Given the description of an element on the screen output the (x, y) to click on. 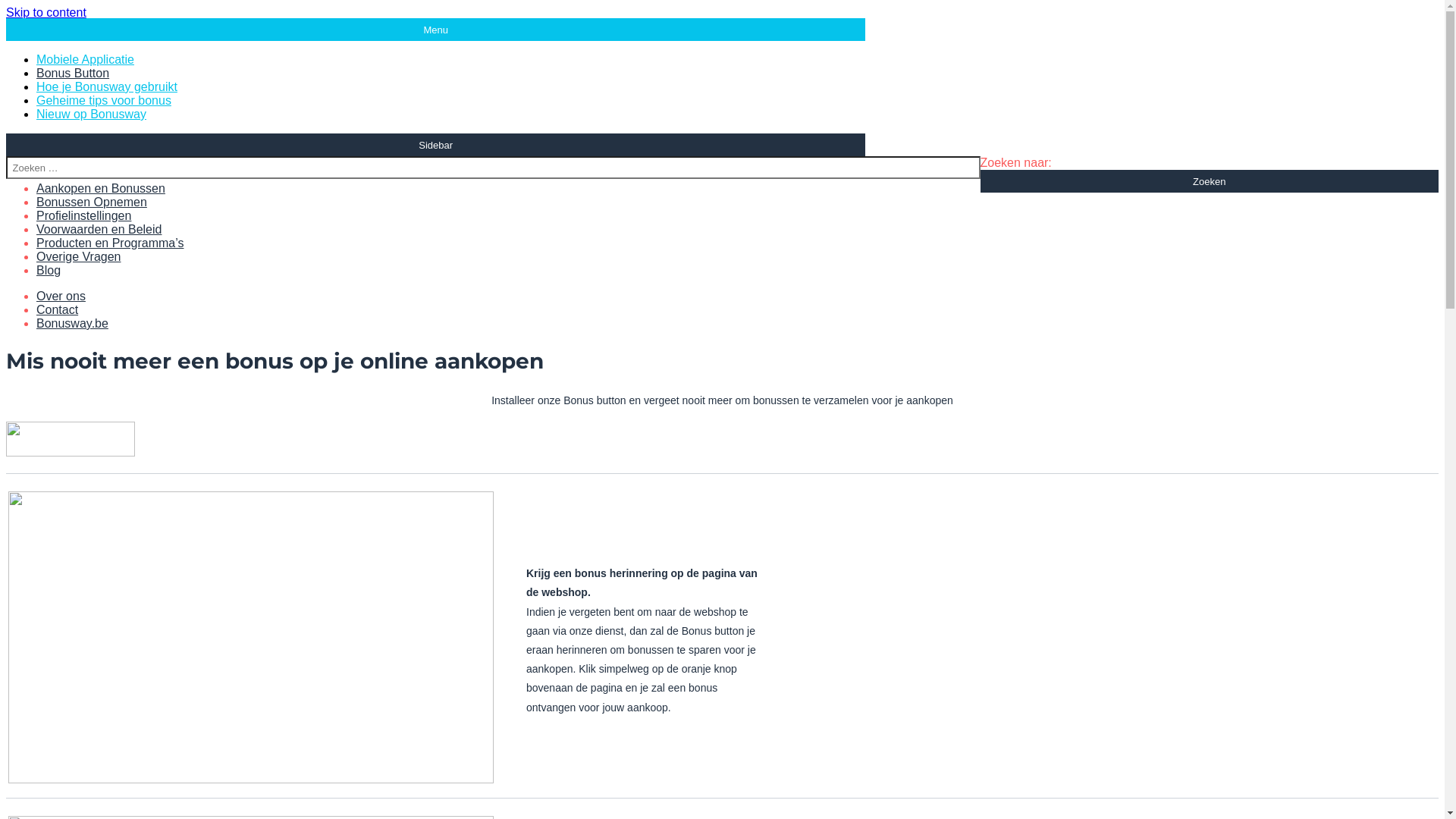
Menu Element type: text (435, 29)
Aankopen en Bonussen Element type: text (100, 189)
Nieuw op Bonusway Element type: text (91, 114)
Bonus Button Element type: text (72, 73)
Zoeken Element type: text (1209, 180)
Blog Element type: text (48, 270)
Bonussen Opnemen Element type: text (91, 202)
Profielinstellingen Element type: text (83, 216)
Overige Vragen Element type: text (78, 257)
Mobiele Applicatie Element type: text (85, 60)
Over ons Element type: text (60, 296)
Bonusway.be Element type: text (72, 323)
Hoe je Bonusway gebruikt Element type: text (106, 87)
Sidebar Element type: text (435, 144)
Geheime tips voor bonus Element type: text (103, 101)
Skip to content Element type: text (46, 12)
Contact Element type: text (57, 310)
Voorwaarden en Beleid Element type: text (98, 229)
